Given the description of an element on the screen output the (x, y) to click on. 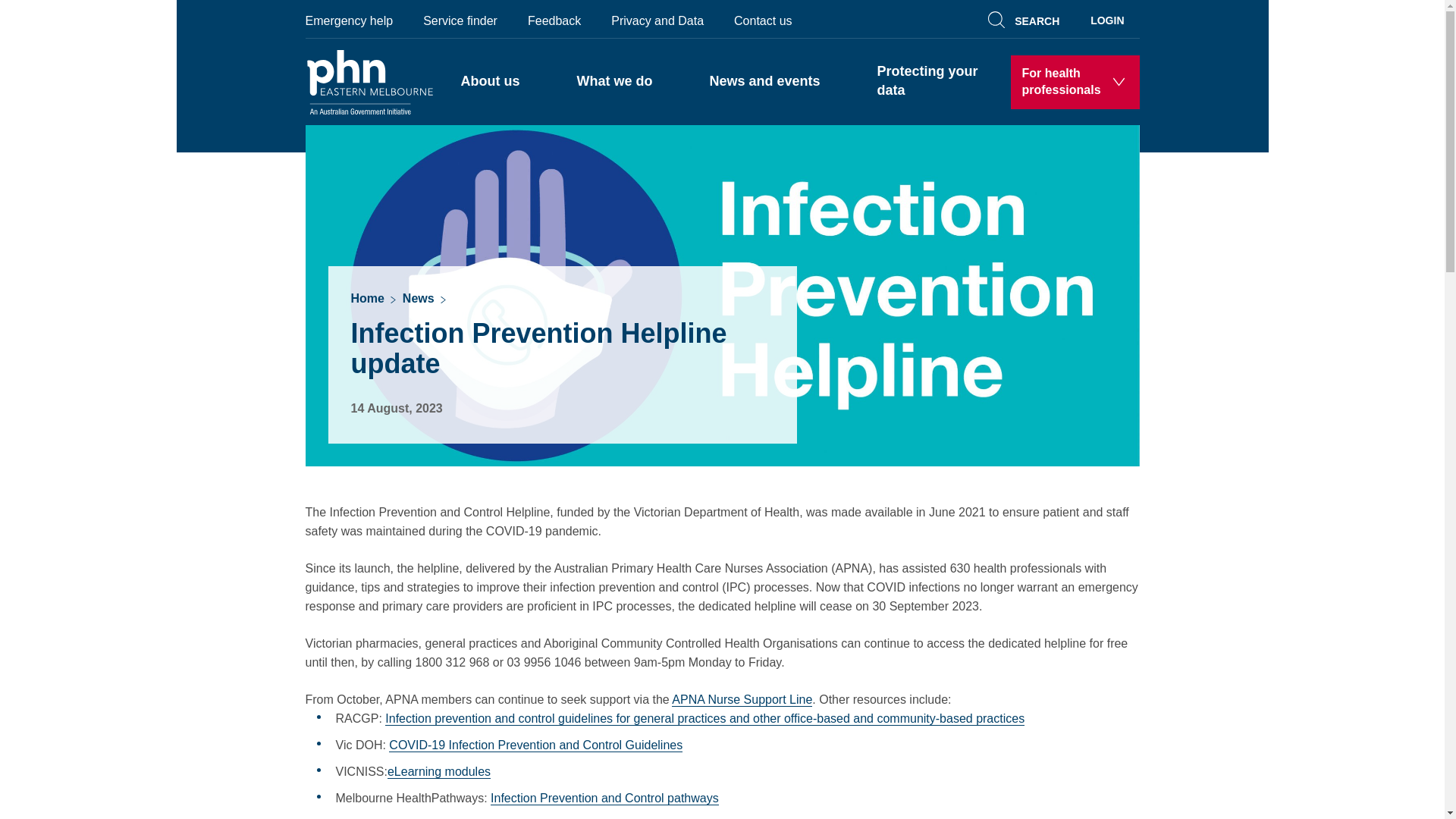
SEARCH (1025, 18)
Privacy and Data (657, 19)
Emergency help (355, 19)
Feedback (553, 19)
LOGIN (1106, 18)
Service finder (459, 19)
What we do (614, 82)
About us (489, 82)
Contact us (762, 19)
